Given the description of an element on the screen output the (x, y) to click on. 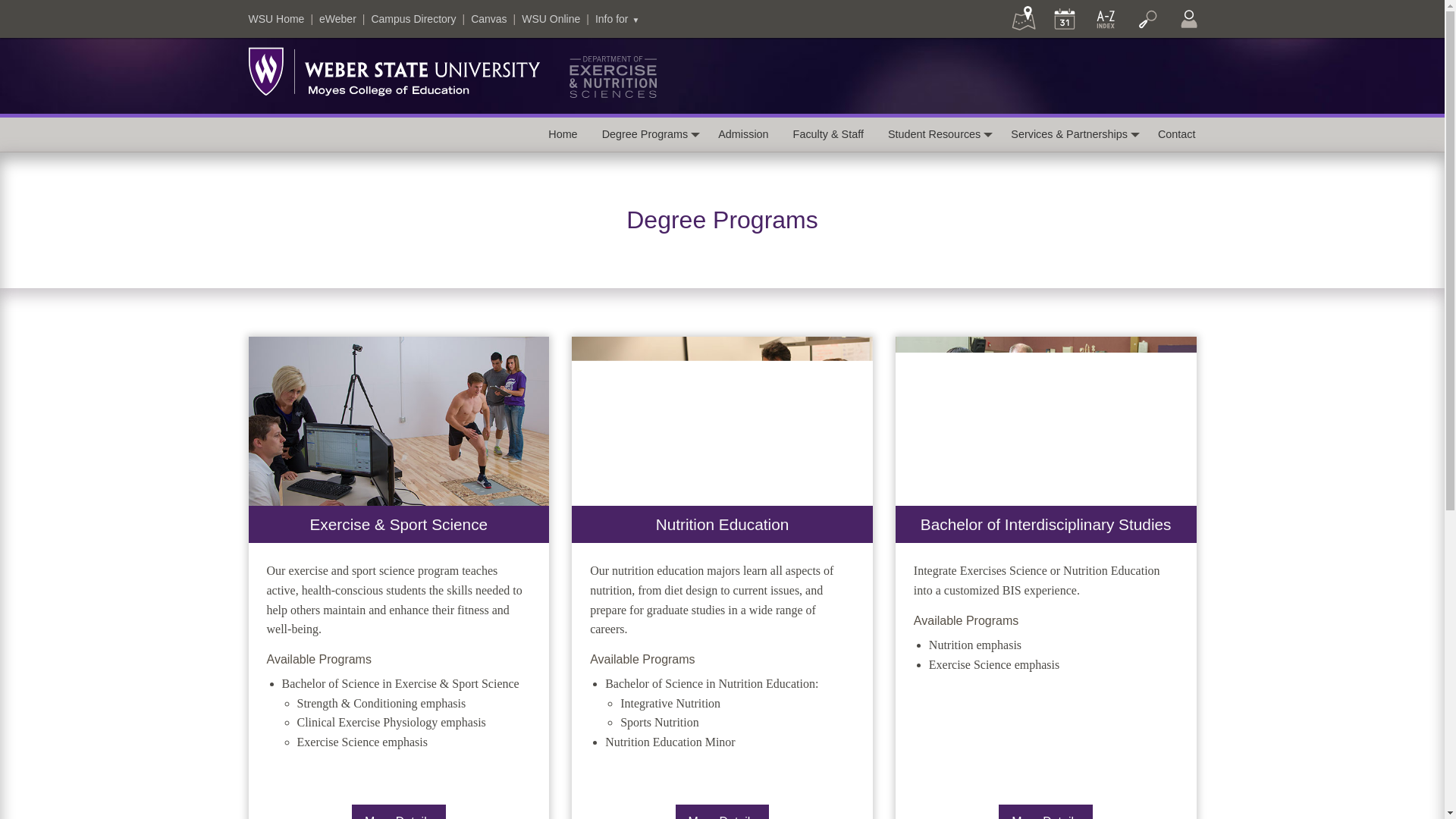
Canvas (488, 19)
WSU Home (276, 19)
Info for (617, 19)
eWeber (337, 19)
WSU Online (550, 19)
Campus Directory (413, 19)
